Given the description of an element on the screen output the (x, y) to click on. 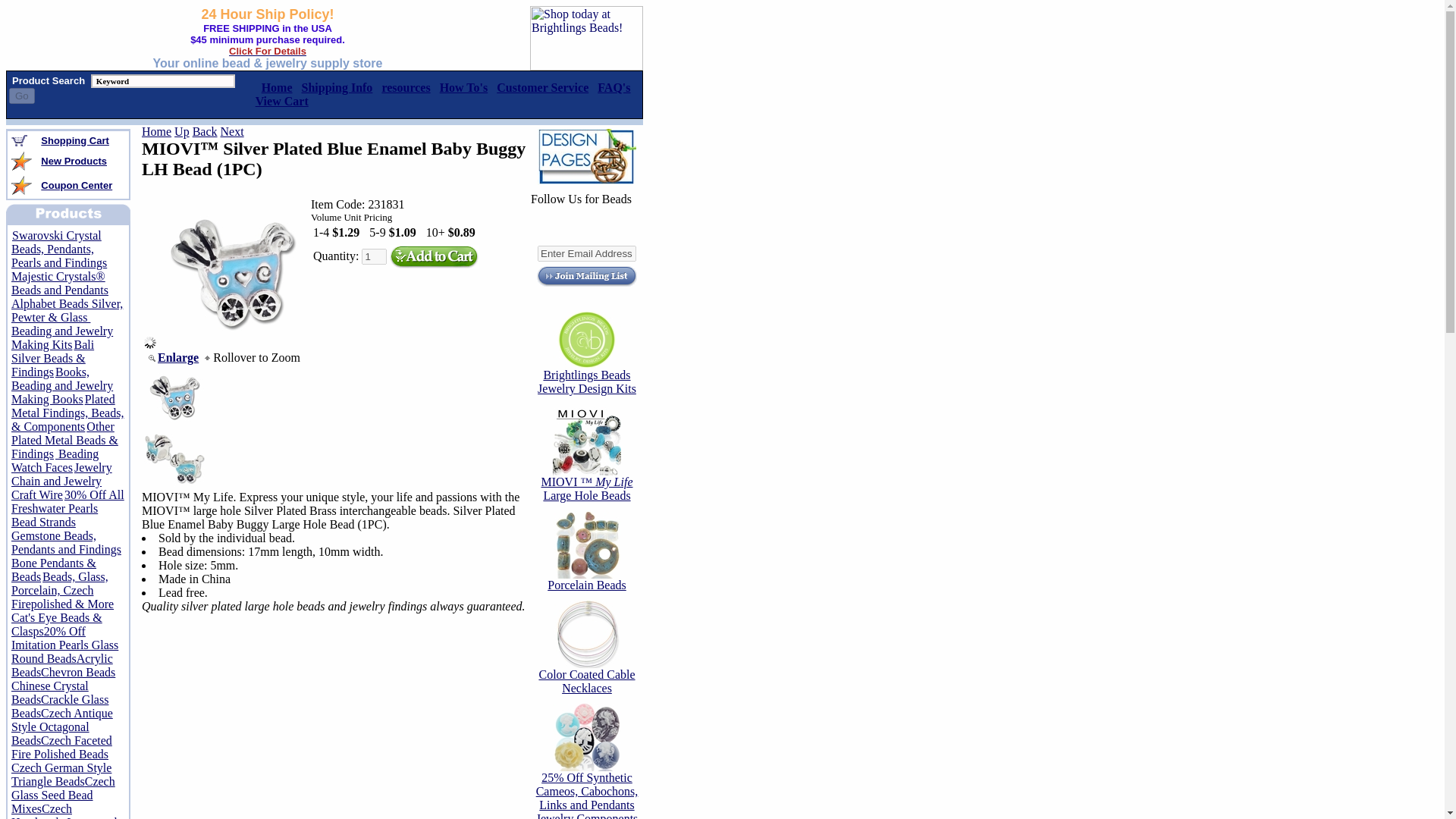
Shopping Cart (74, 139)
How To's (463, 87)
Enter Email Address (586, 253)
Books, Beading and Jewelry Making Books (62, 385)
Shipping Info (336, 87)
Czech Faceted Fire Polished Beads (61, 746)
Beading Watch Faces (55, 460)
Go (21, 95)
Czech German Style Triangle Beads (61, 774)
Chevron Beads (77, 671)
